Given the description of an element on the screen output the (x, y) to click on. 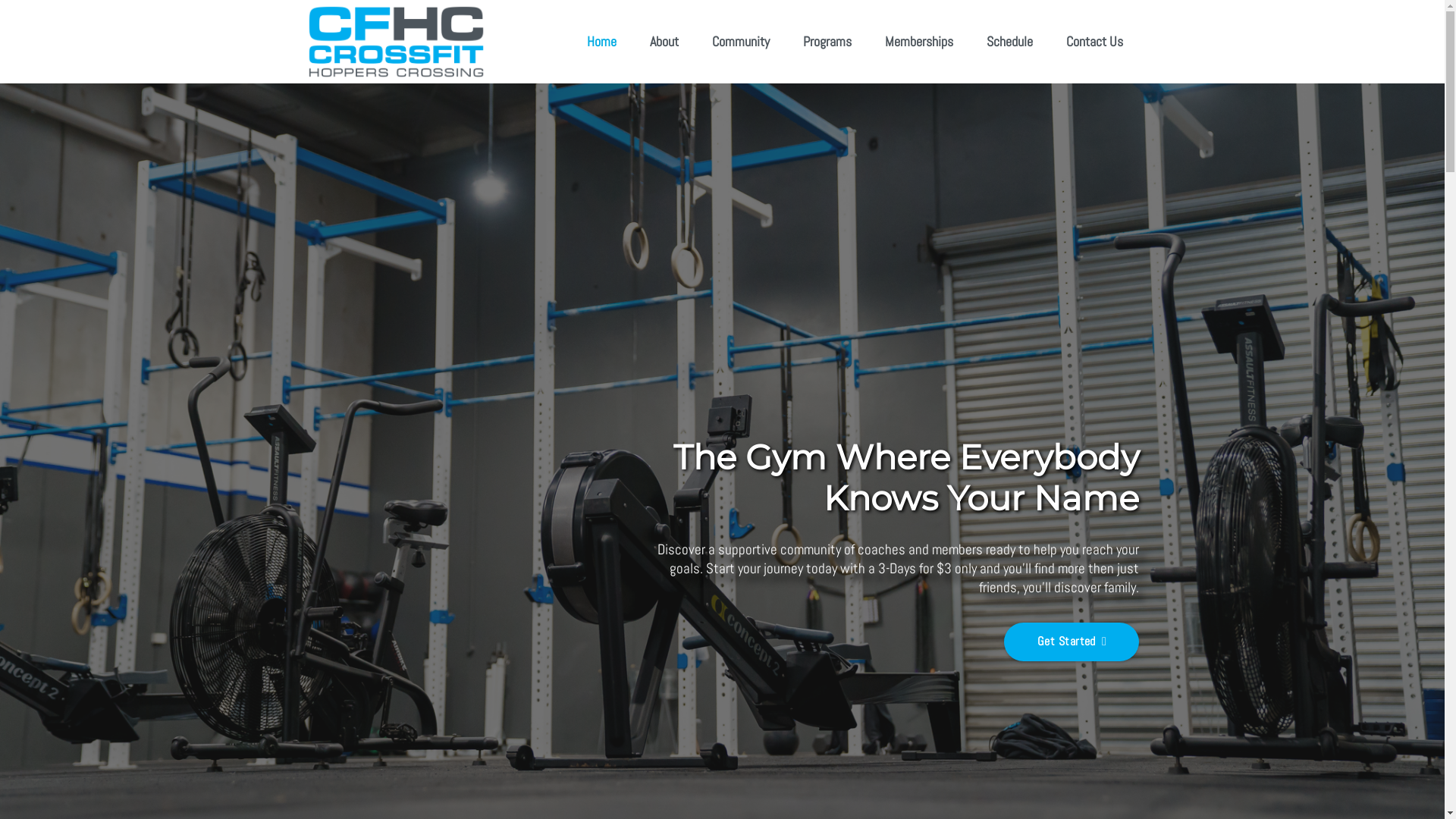
Programs Element type: text (827, 41)
Memberships Element type: text (918, 41)
Home Element type: text (601, 41)
Get Started Element type: text (1071, 641)
About Element type: text (664, 41)
Contact Us Element type: text (1094, 41)
Community Element type: text (740, 41)
Schedule Element type: text (1009, 41)
